Given the description of an element on the screen output the (x, y) to click on. 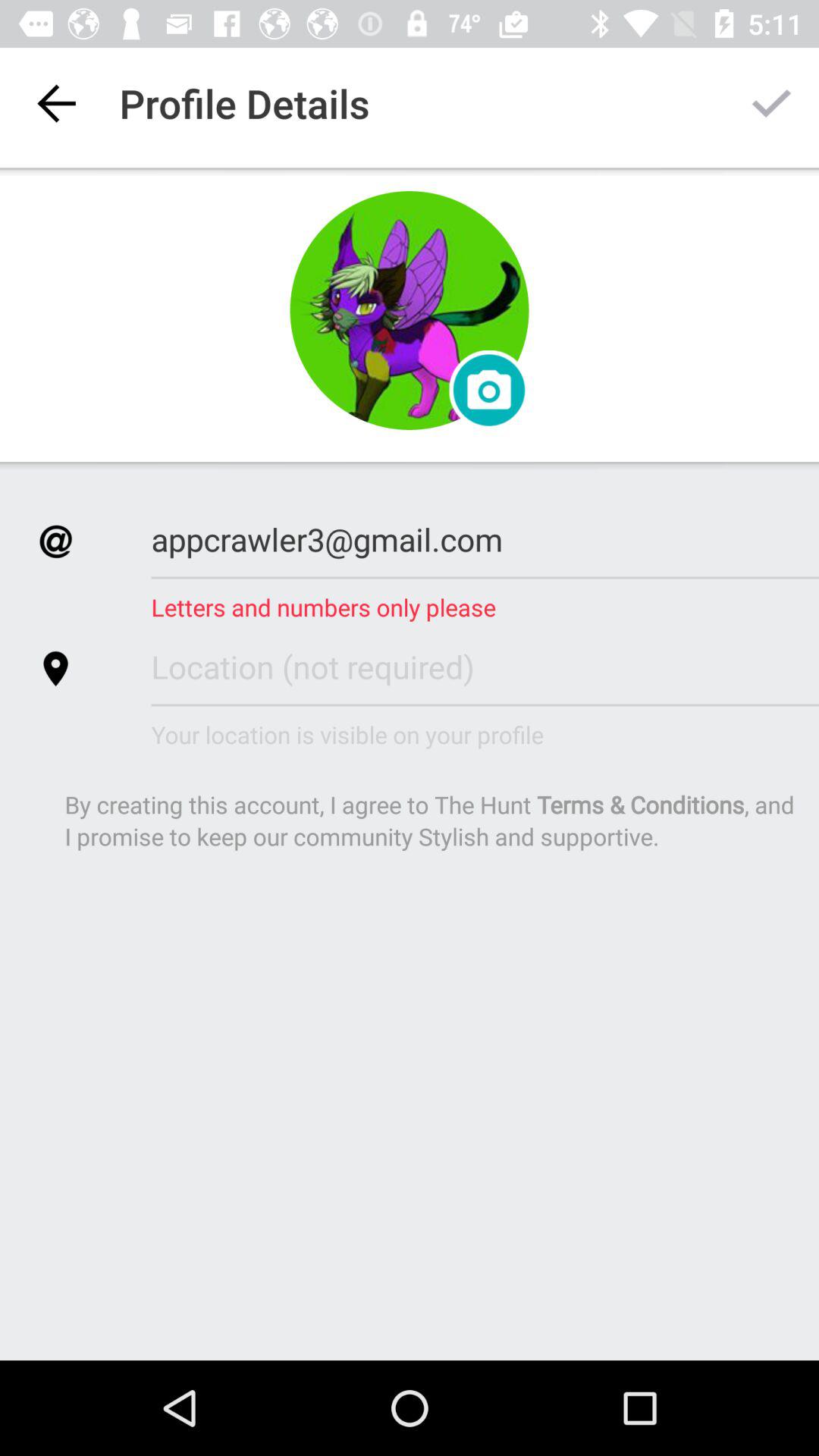
take a profile picture (409, 310)
